Given the description of an element on the screen output the (x, y) to click on. 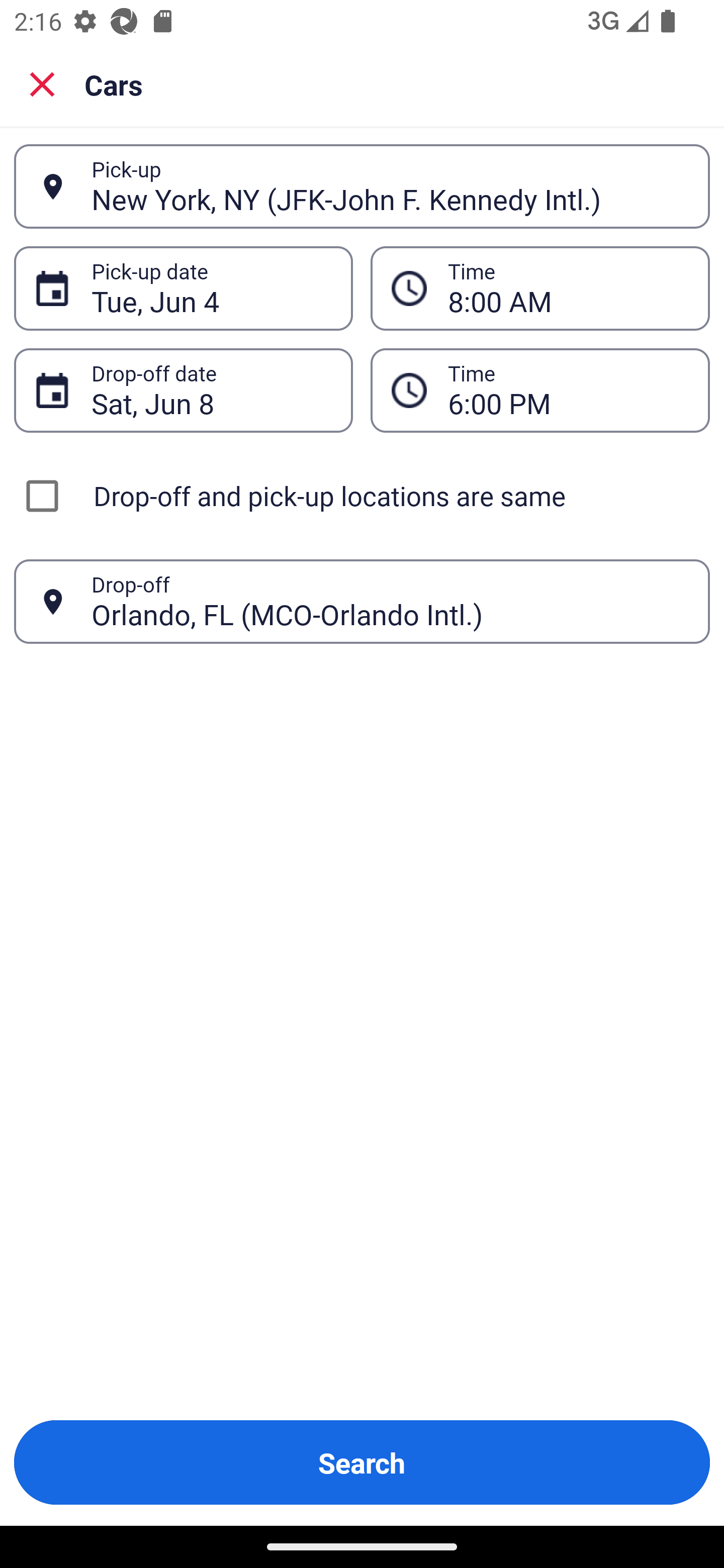
Close search screen (41, 83)
New York, NY (JFK-John F. Kennedy Intl.) Pick-up (361, 186)
New York, NY (JFK-John F. Kennedy Intl.) (389, 186)
Tue, Jun 4 Pick-up date (183, 288)
8:00 AM (540, 288)
Tue, Jun 4 (211, 288)
8:00 AM (568, 288)
Sat, Jun 8 Drop-off date (183, 390)
6:00 PM (540, 390)
Sat, Jun 8 (211, 390)
6:00 PM (568, 390)
Drop-off and pick-up locations are same (361, 495)
Orlando, FL (MCO-Orlando Intl.) Drop-off (361, 601)
Orlando, FL (MCO-Orlando Intl.) (389, 601)
Search Button Search (361, 1462)
